Given the description of an element on the screen output the (x, y) to click on. 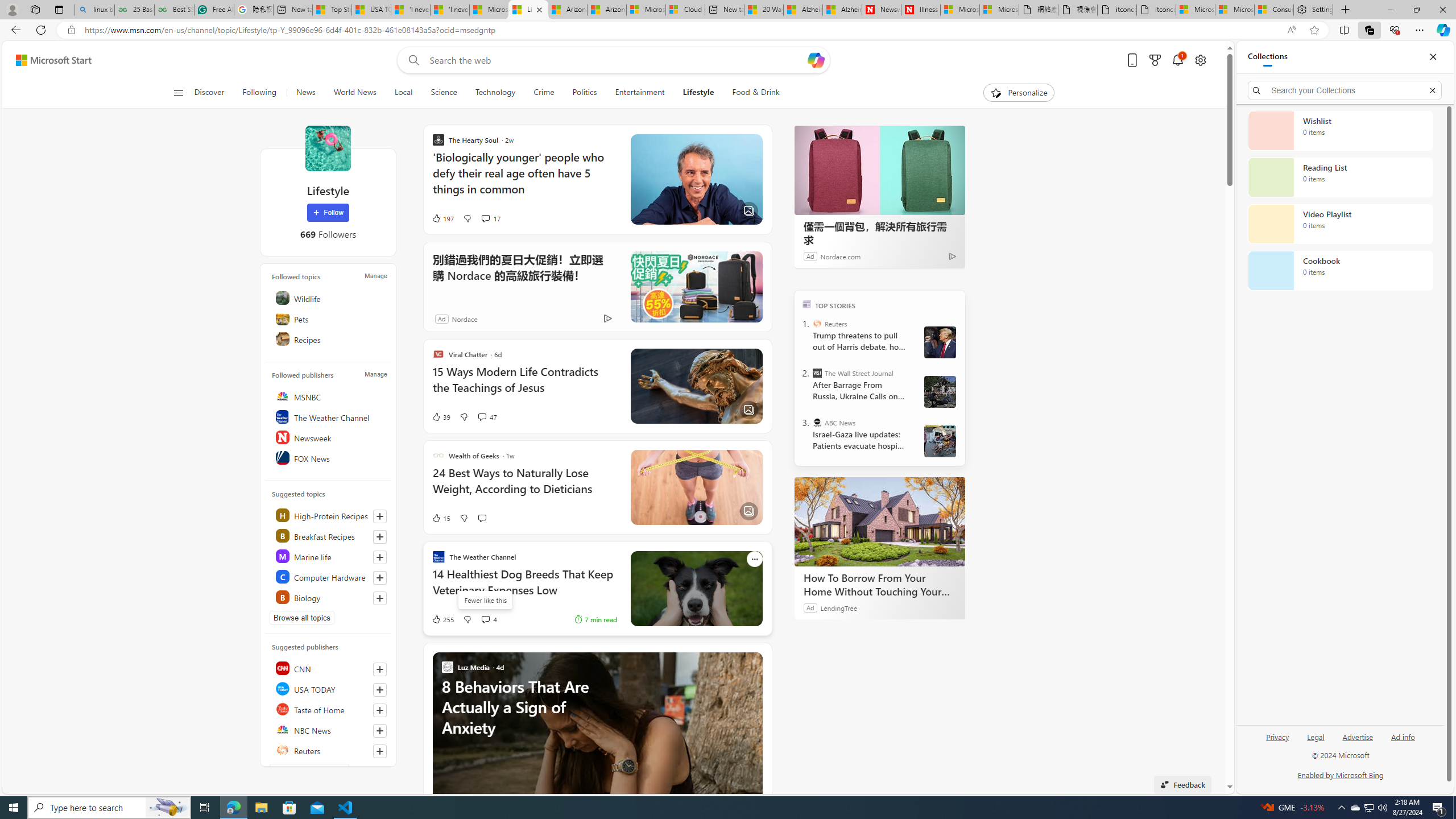
20 Ways to Boost Your Protein Intake at Every Meal (763, 9)
Personalize (1019, 92)
LendingTree (838, 607)
Newsweek - News, Analysis, Politics, Business, Technology (881, 9)
USA TODAY (328, 688)
itconcepthk.com/projector_solutions.mp4 (1155, 9)
